Given the description of an element on the screen output the (x, y) to click on. 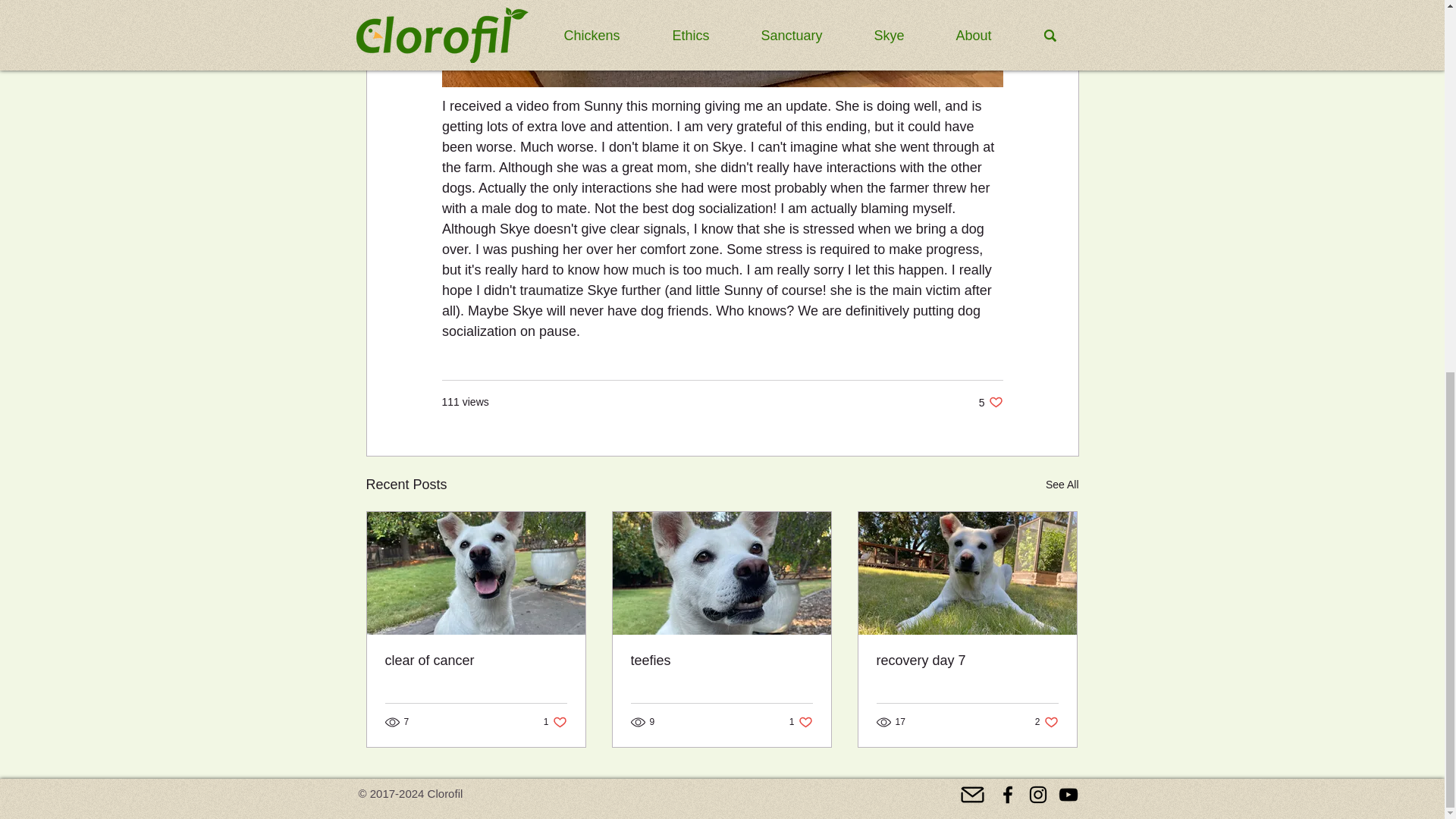
recovery day 7 (967, 660)
clear of cancer (555, 721)
See All (476, 660)
teefies (1061, 485)
